Given the description of an element on the screen output the (x, y) to click on. 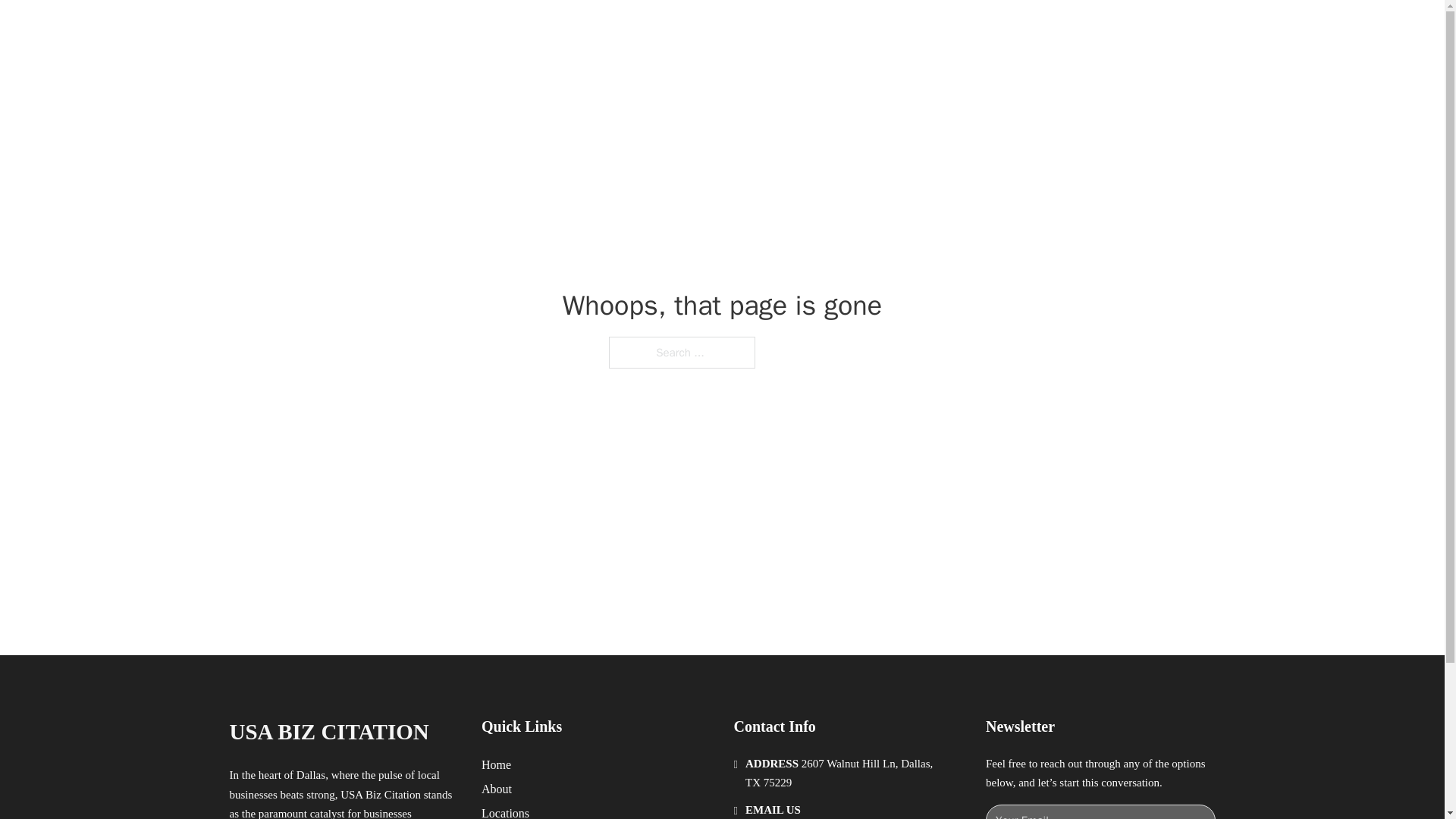
Locations (505, 811)
HOME (919, 29)
About (496, 788)
USA BIZ CITATION (328, 732)
Home (496, 764)
USA BIZ CITATION (400, 28)
LOCATIONS (990, 29)
